Given the description of an element on the screen output the (x, y) to click on. 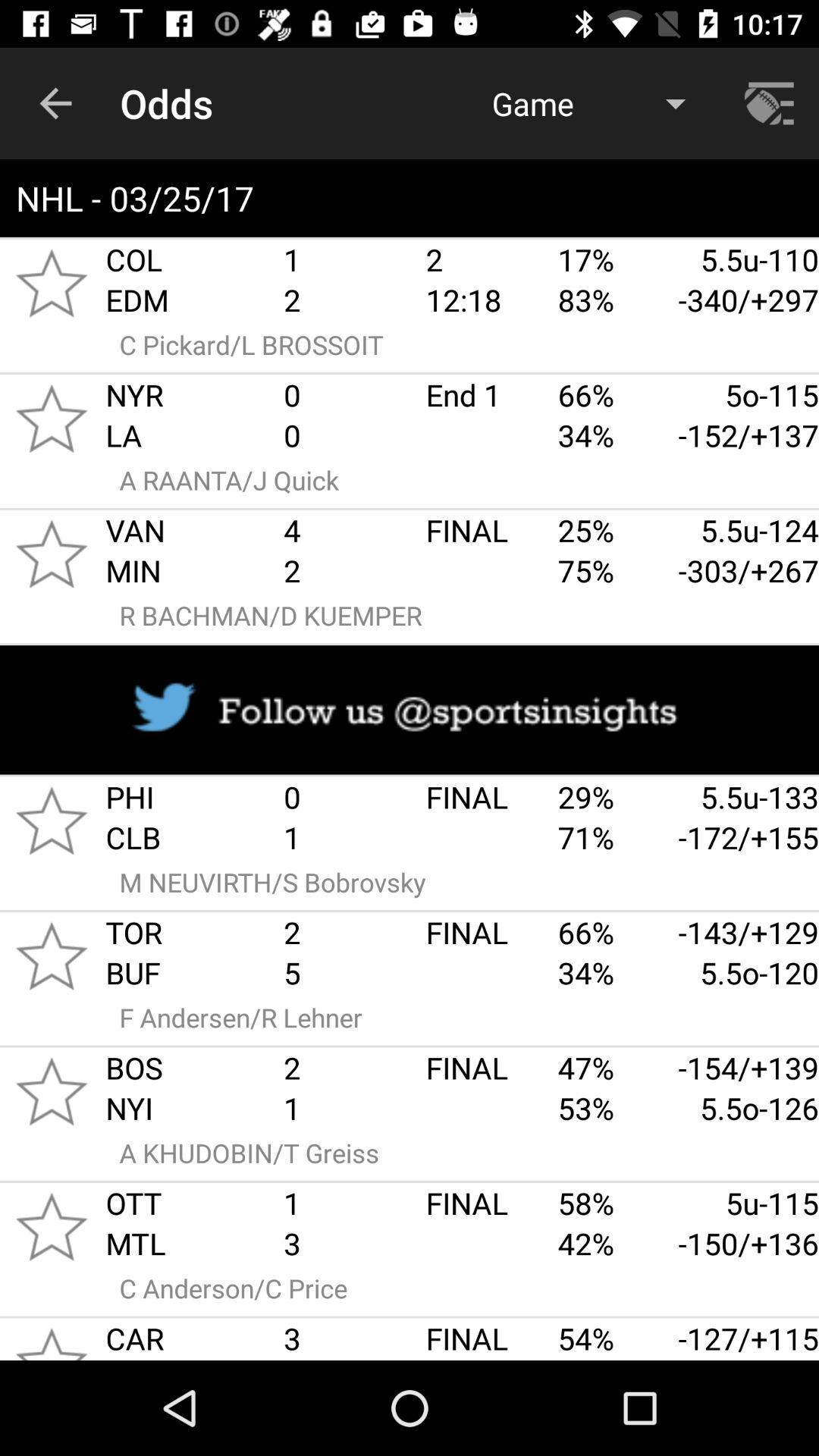
favorite (51, 553)
